Given the description of an element on the screen output the (x, y) to click on. 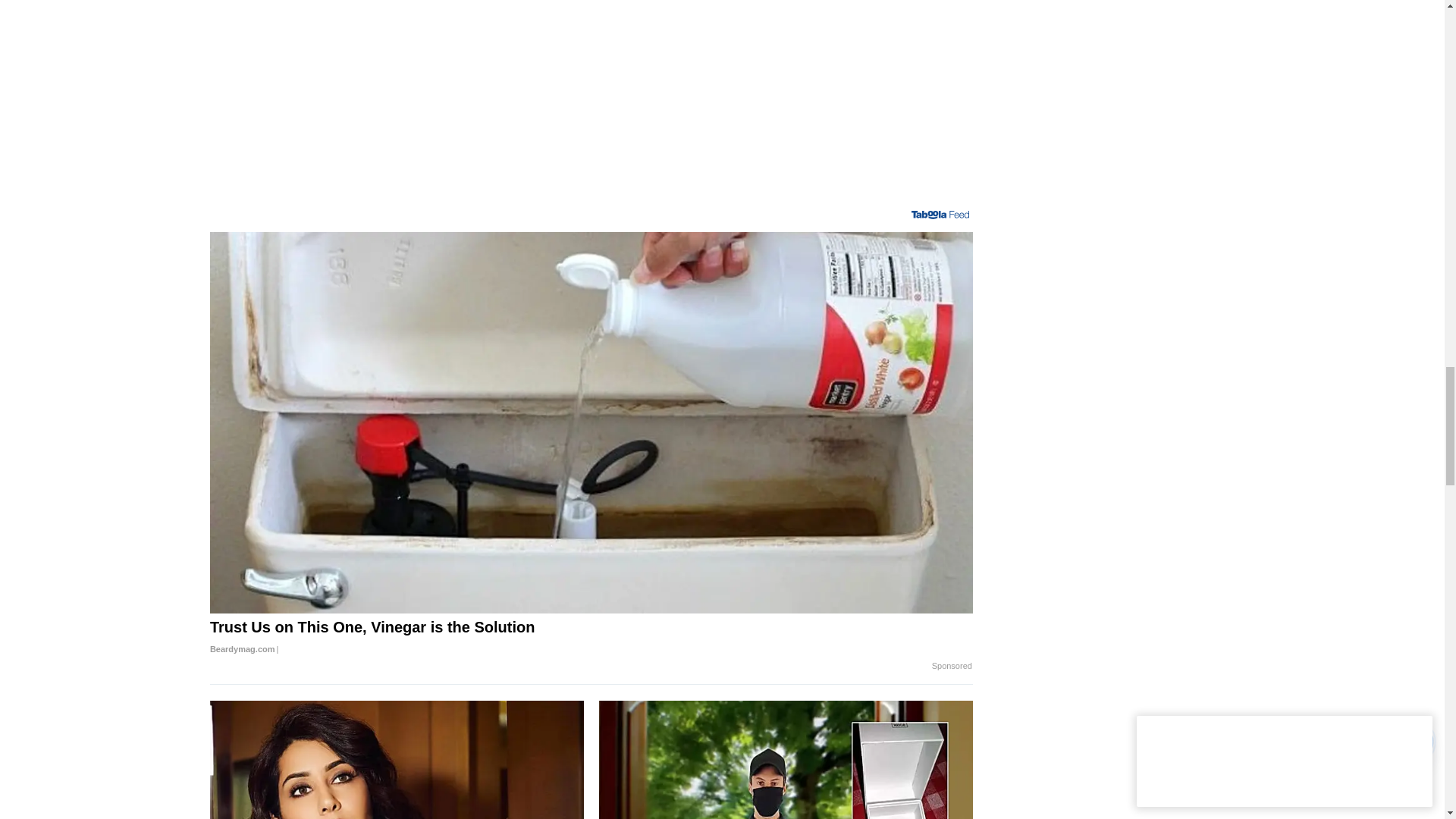
Trust Us on This One, Vinegar is the Solution (590, 638)
